Given the description of an element on the screen output the (x, y) to click on. 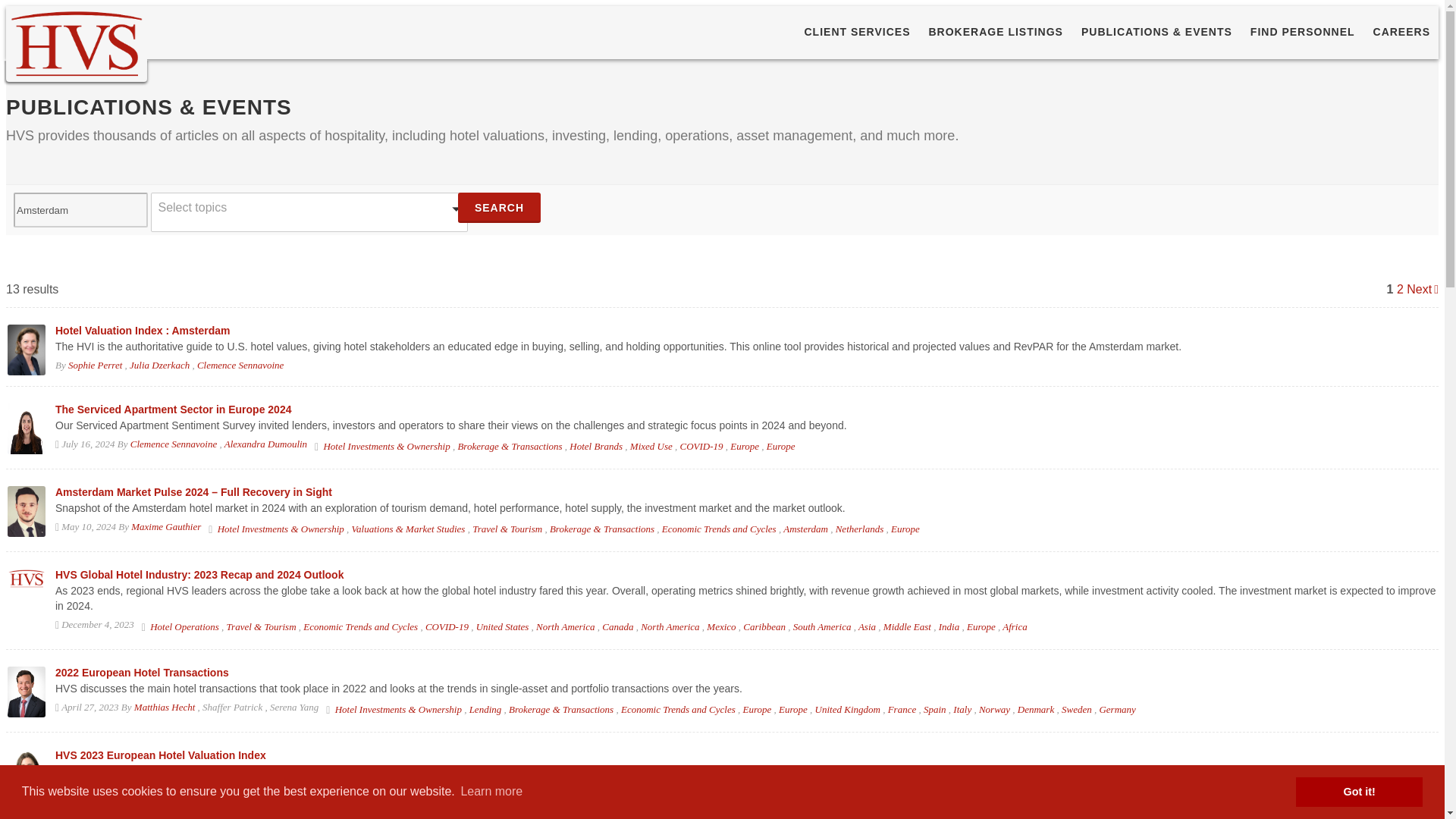
SEARCH (499, 207)
Learn more (491, 791)
Julia Dzerkach (159, 365)
Mixed Use (651, 446)
Hotel Valuation Index : Amsterdam (142, 330)
Clemence Sennavoine (239, 365)
Amsterdam (80, 209)
CLIENT SERVICES (857, 31)
Alexandra Dumoulin (265, 443)
Hotel Brands (596, 446)
Sophie Perret (95, 365)
The Serviced Apartment Sector in Europe 2024 (173, 409)
BROKERAGE LISTINGS (995, 31)
FIND PERSONNEL (1301, 31)
Select topics (309, 211)
